Given the description of an element on the screen output the (x, y) to click on. 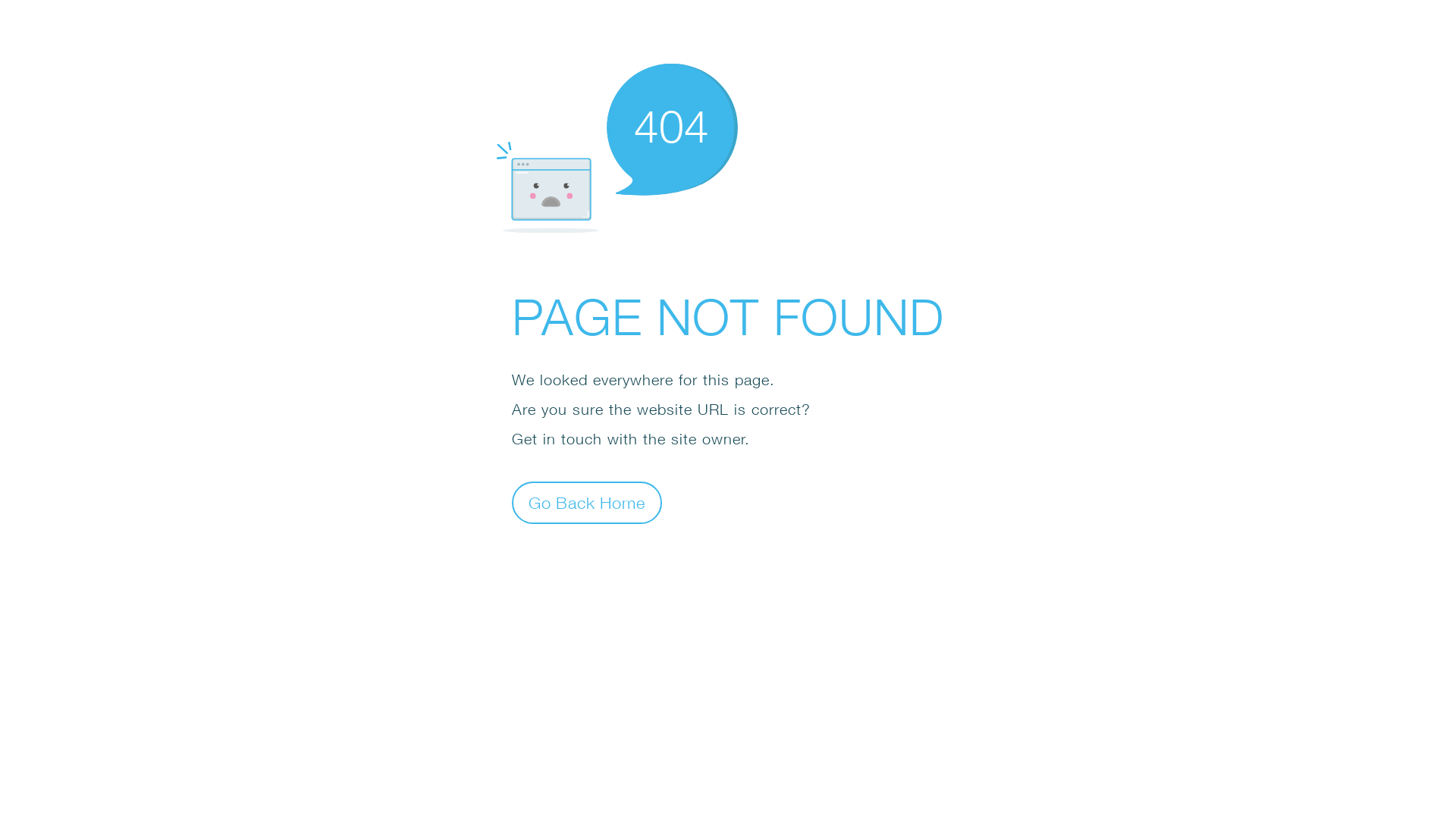
Go Back Home Element type: text (586, 502)
